Given the description of an element on the screen output the (x, y) to click on. 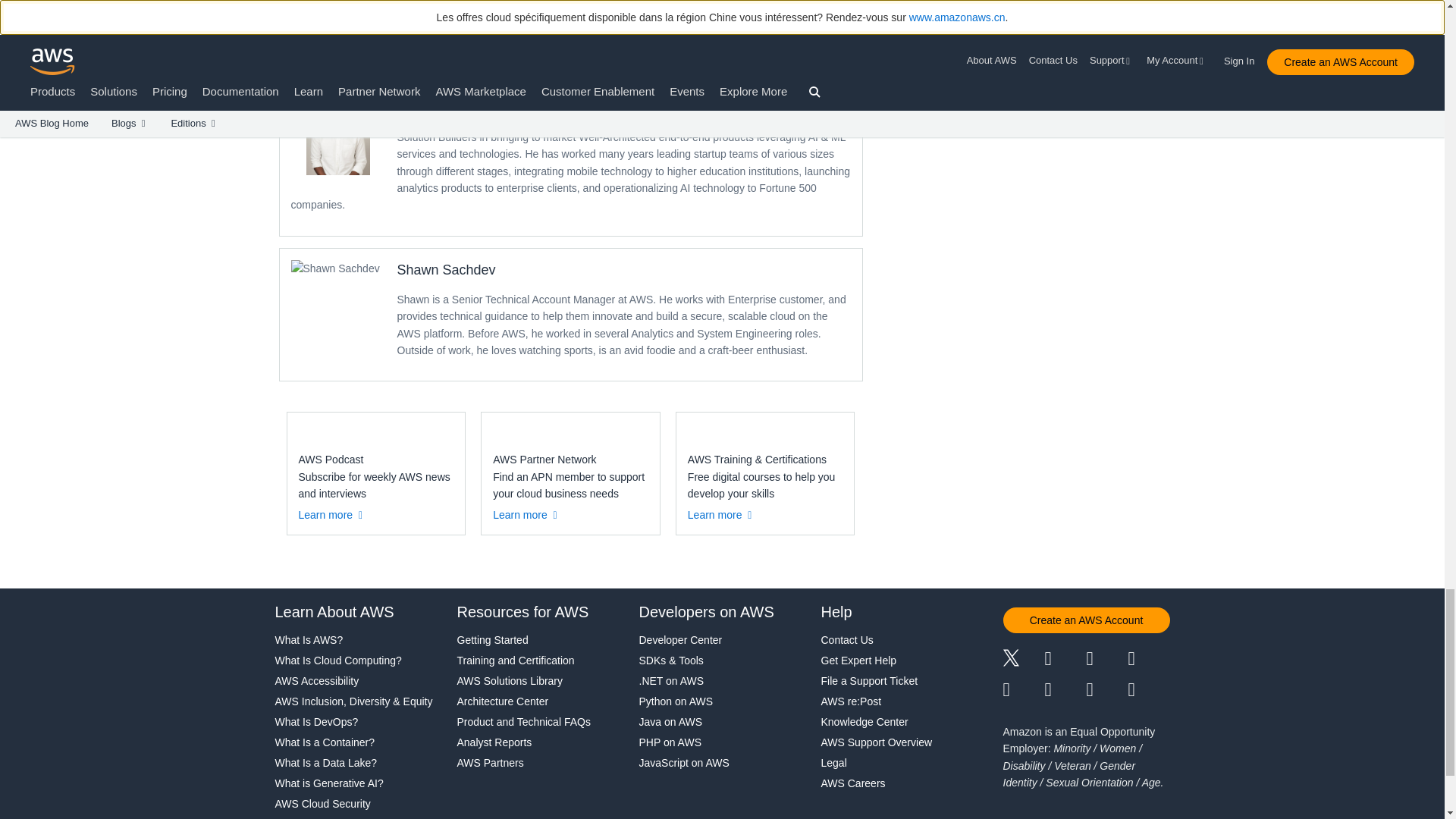
Twitch (1023, 690)
Facebook (1065, 659)
Podcast (1106, 690)
Instagram (1149, 659)
Twitter (1023, 659)
Linkedin (1106, 659)
YouTube (1065, 690)
